Given the description of an element on the screen output the (x, y) to click on. 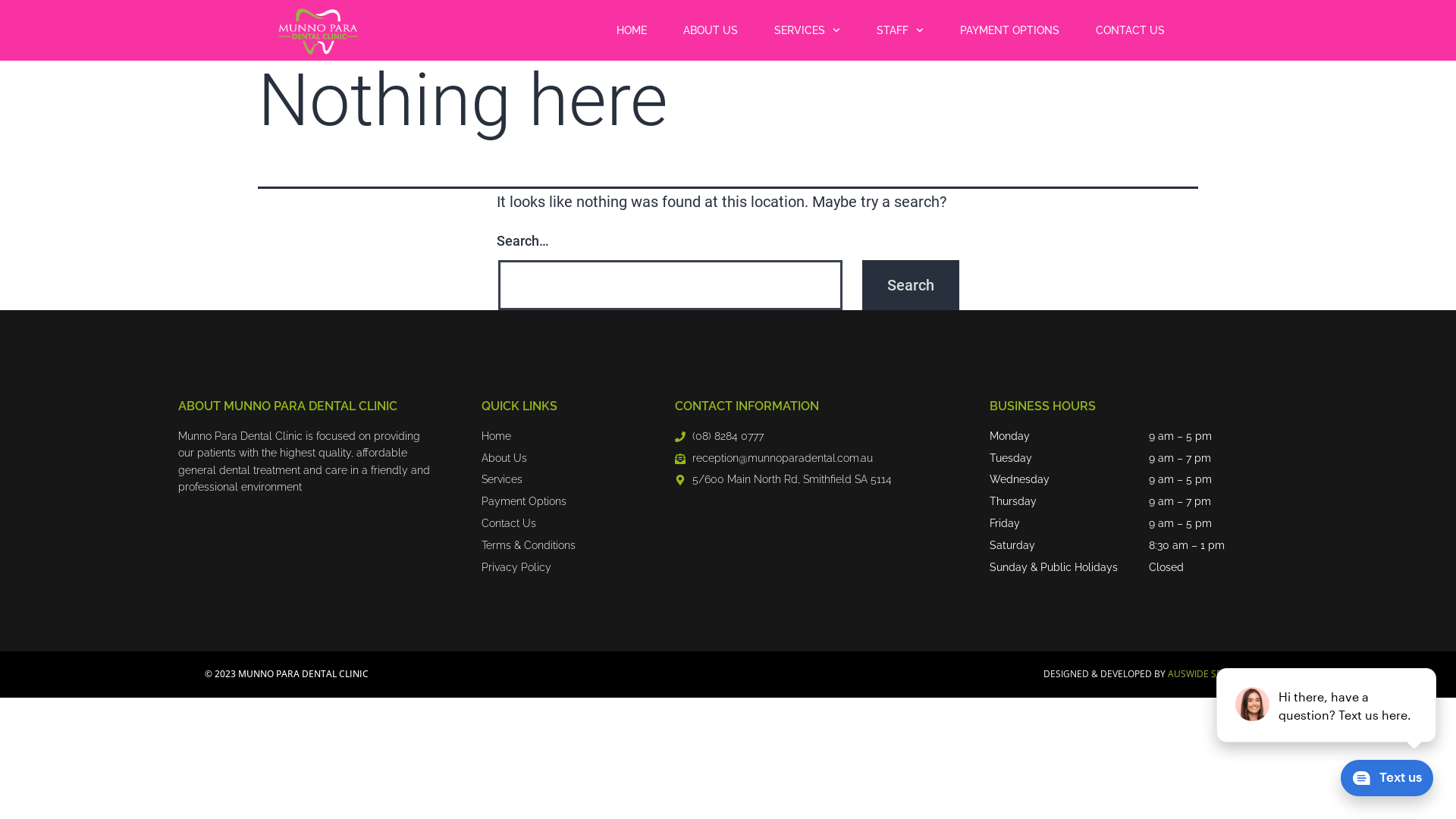
Privacy Policy Element type: text (516, 567)
STAFF Element type: text (899, 30)
Payment Options Element type: text (523, 501)
SERVICES Element type: text (807, 30)
Terms & Conditions Element type: text (528, 545)
ABOUT US Element type: text (710, 30)
CONTACT US Element type: text (1130, 30)
Contact Us Element type: text (508, 523)
HOME Element type: text (631, 30)
PAYMENT OPTIONS Element type: text (1009, 30)
Home Element type: text (496, 436)
(08) 8284 0777 Element type: text (718, 436)
About Us Element type: text (504, 458)
reception@munnoparadental.com.au Element type: text (773, 458)
Services Element type: text (501, 479)
Search Element type: text (910, 285)
AUSWIDE SERVICES Element type: text (1209, 673)
5/600 Main North Rd, Smithfield SA 5114 Element type: text (782, 479)
